Given the description of an element on the screen output the (x, y) to click on. 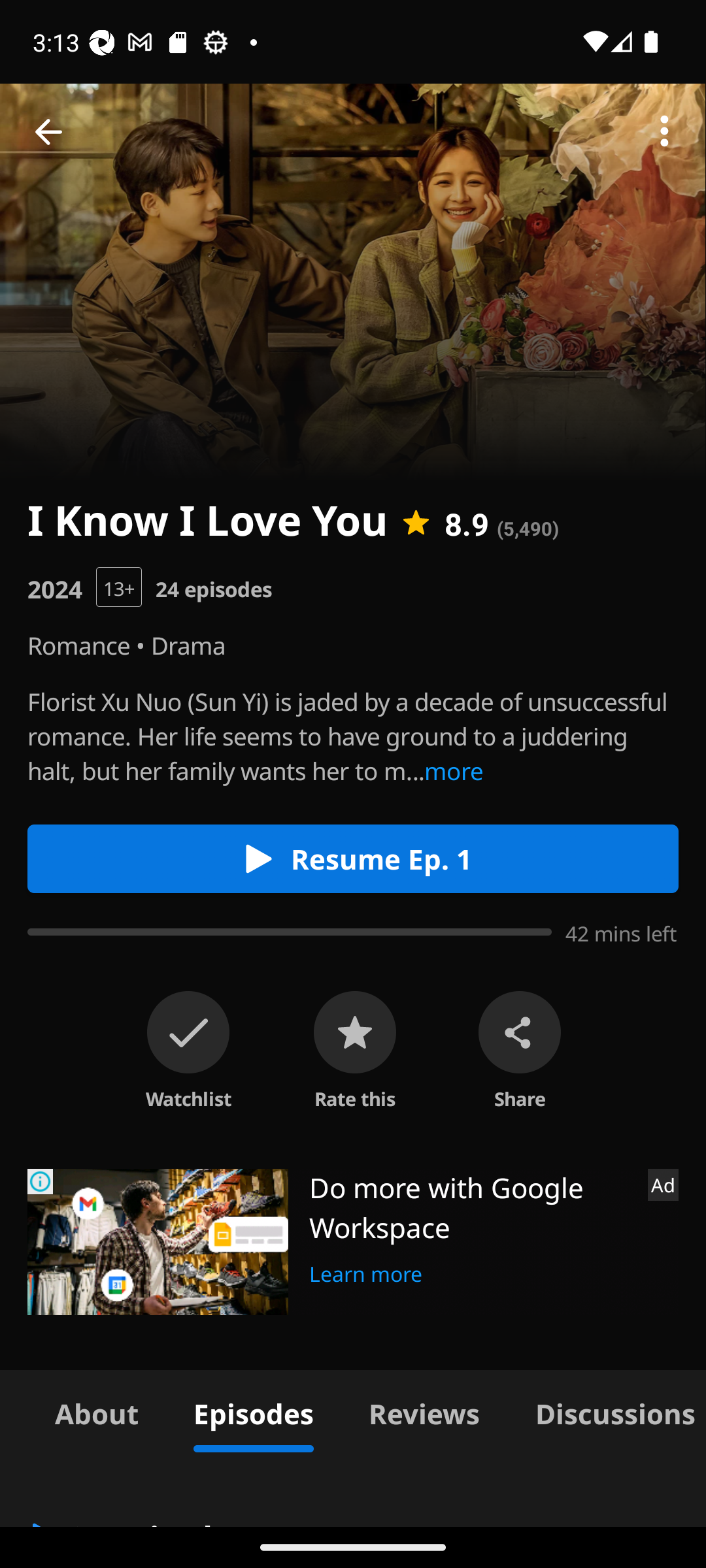
More (664, 131)
on (187, 1032)
Ad Choices Icon (39, 1181)
Do more with Google Workspace (471, 1207)
Learn more (365, 1271)
About (96, 1410)
Reviews (423, 1410)
Discussions (606, 1410)
